Given the description of an element on the screen output the (x, y) to click on. 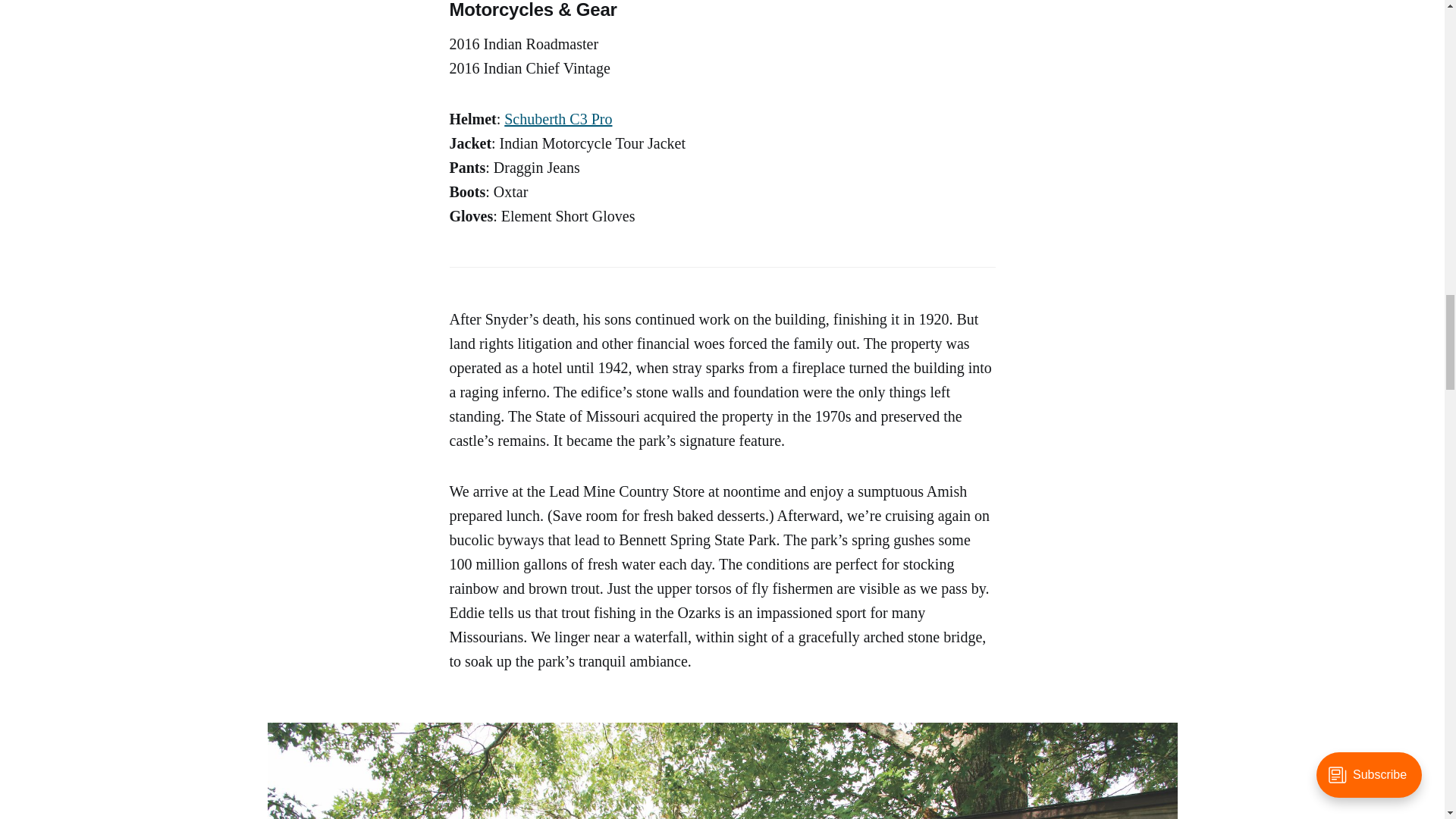
Schuberth C3 Pro (557, 118)
